Given the description of an element on the screen output the (x, y) to click on. 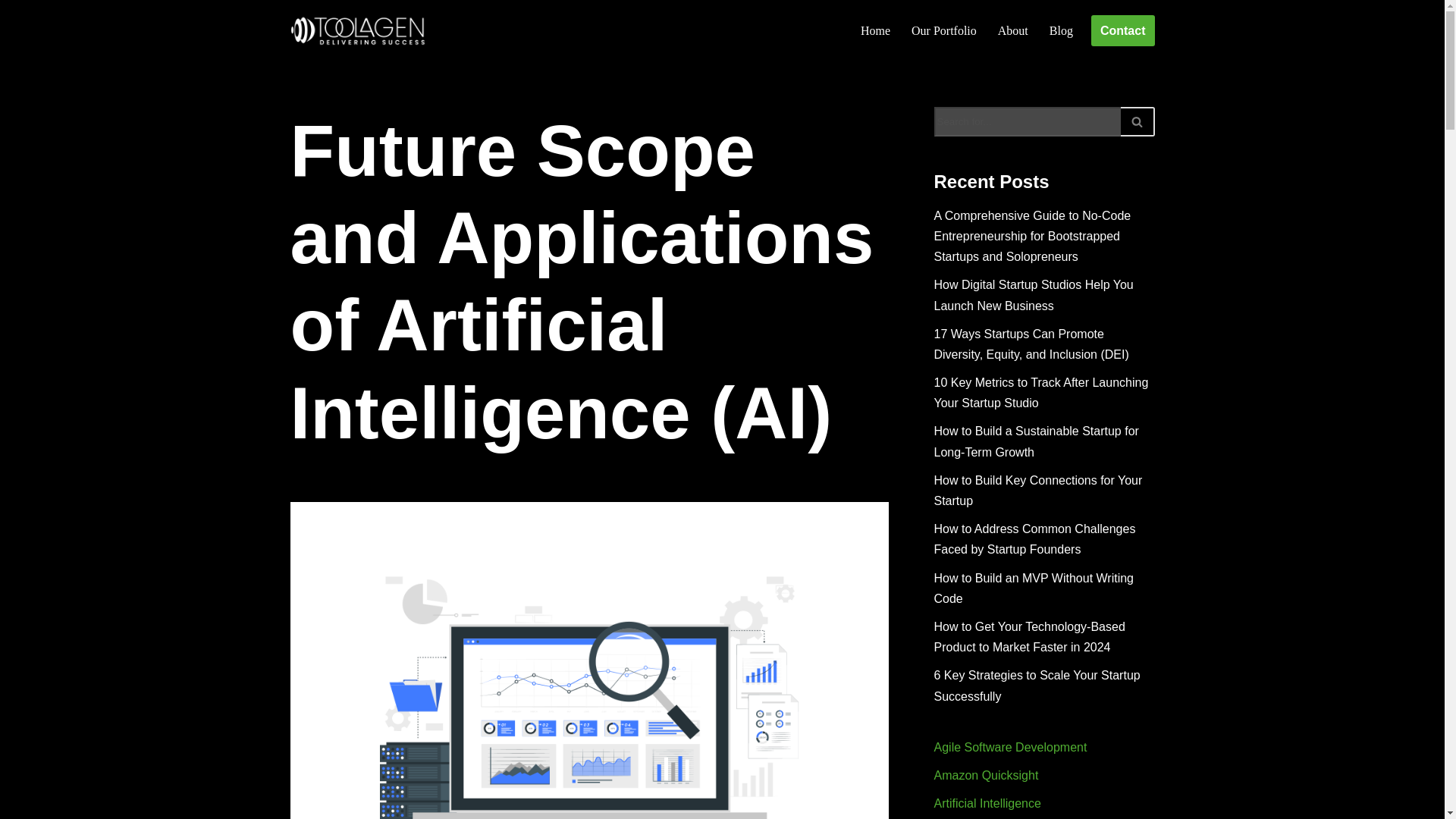
Home (874, 30)
Our Portfolio (943, 30)
How to Address Common Challenges Faced by Startup Founders (1034, 539)
Amazon Quicksight (986, 775)
How Digital Startup Studios Help You Launch New Business (1034, 295)
10 Key Metrics to Track After Launching Your Startup Studio (1041, 392)
Blog (1061, 30)
How to Build a Sustainable Startup for Long-Term Growth (1036, 441)
Agile Software Development (1010, 747)
6 Key Strategies to Scale Your Startup Successfully (1037, 685)
